Given the description of an element on the screen output the (x, y) to click on. 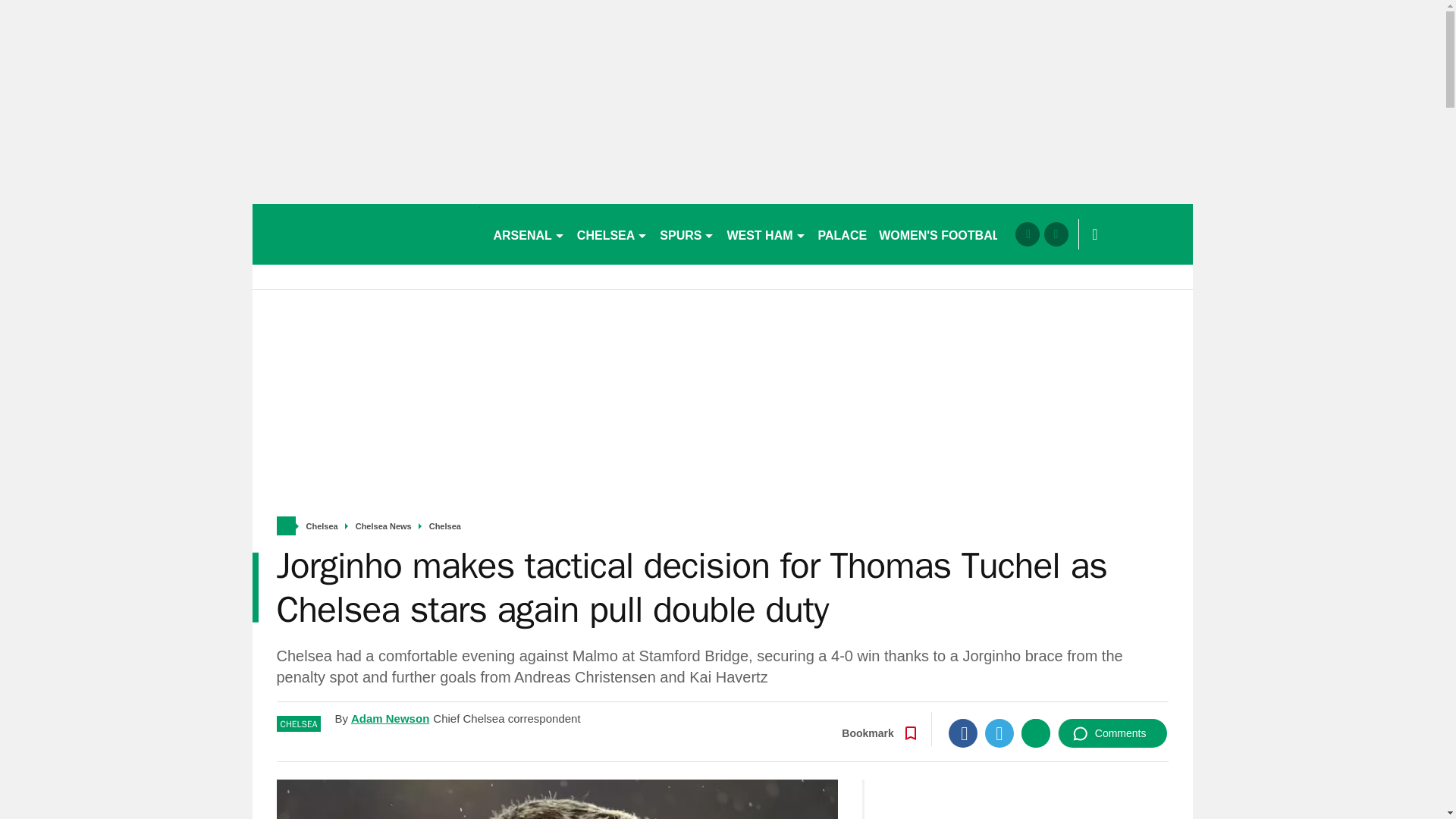
facebook (1026, 233)
Comments (1112, 733)
SPURS (686, 233)
Twitter (999, 733)
WOMEN'S FOOTBALL (942, 233)
WEST HAM (765, 233)
PALACE (842, 233)
twitter (1055, 233)
ARSENAL (528, 233)
CHELSEA (611, 233)
footballlondon (365, 233)
Facebook (962, 733)
